Given the description of an element on the screen output the (x, y) to click on. 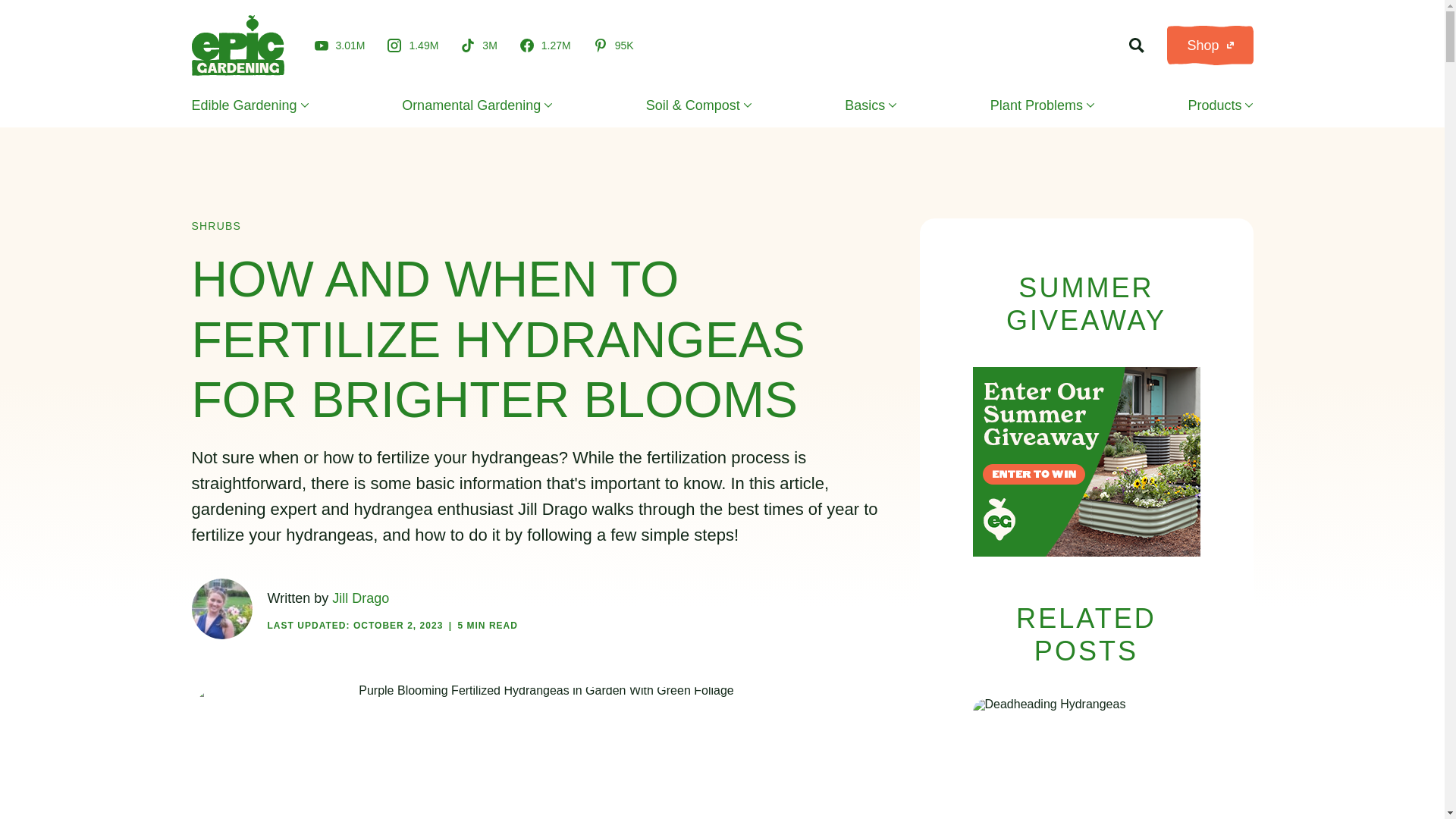
Edible Gardening (248, 105)
Ornamental Gardening (476, 105)
3.01M (339, 45)
Shop (1209, 45)
95K (613, 45)
Basics (870, 105)
1.27M (544, 45)
3M (478, 45)
1.49M (412, 45)
Posts by Jill Drago (359, 598)
